Given the description of an element on the screen output the (x, y) to click on. 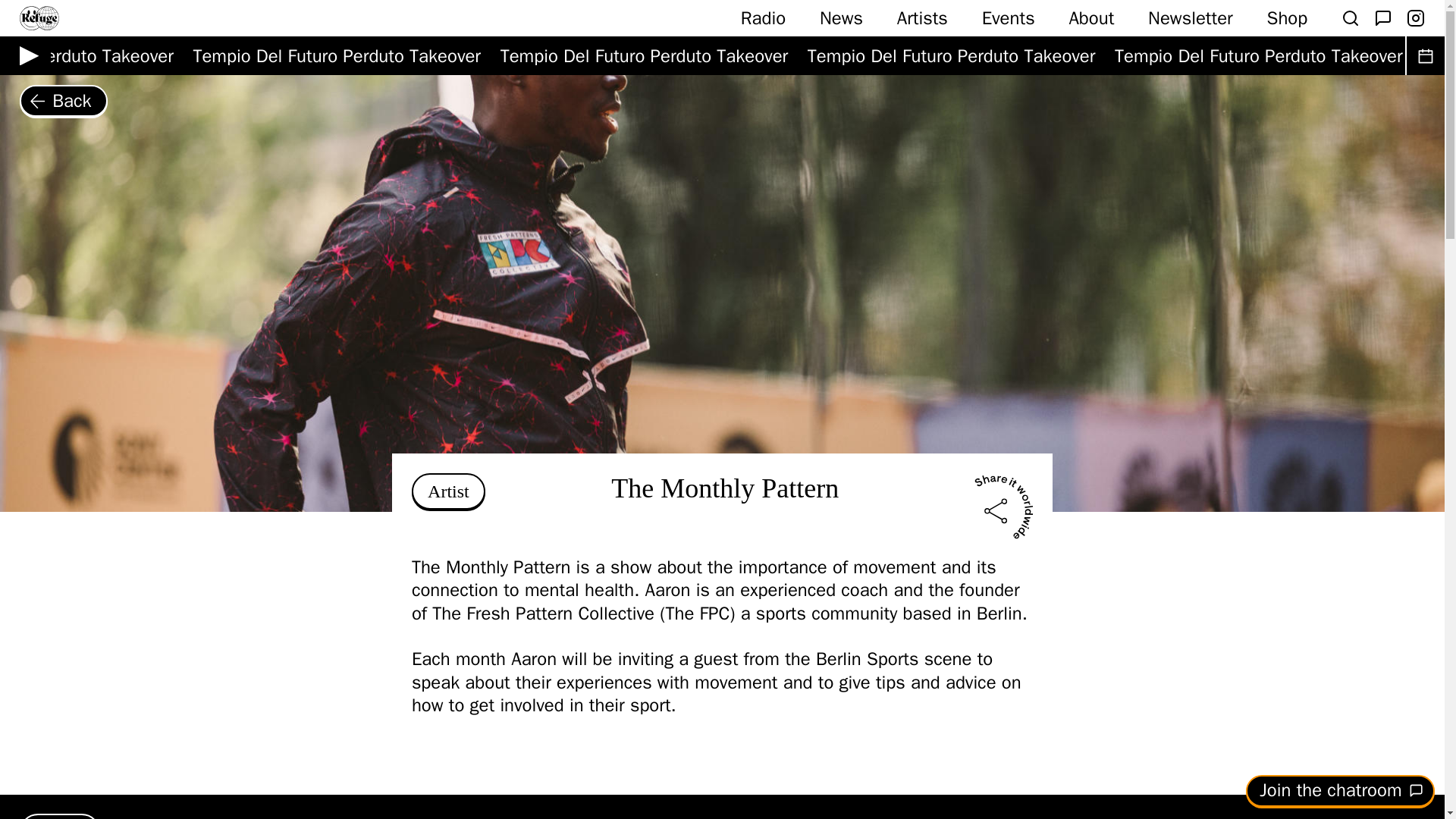
Newsletter (1190, 17)
Radio (763, 17)
Artists (921, 17)
Shop (1286, 17)
Events (1008, 17)
News (841, 17)
Back (63, 101)
About (1090, 17)
